Given the description of an element on the screen output the (x, y) to click on. 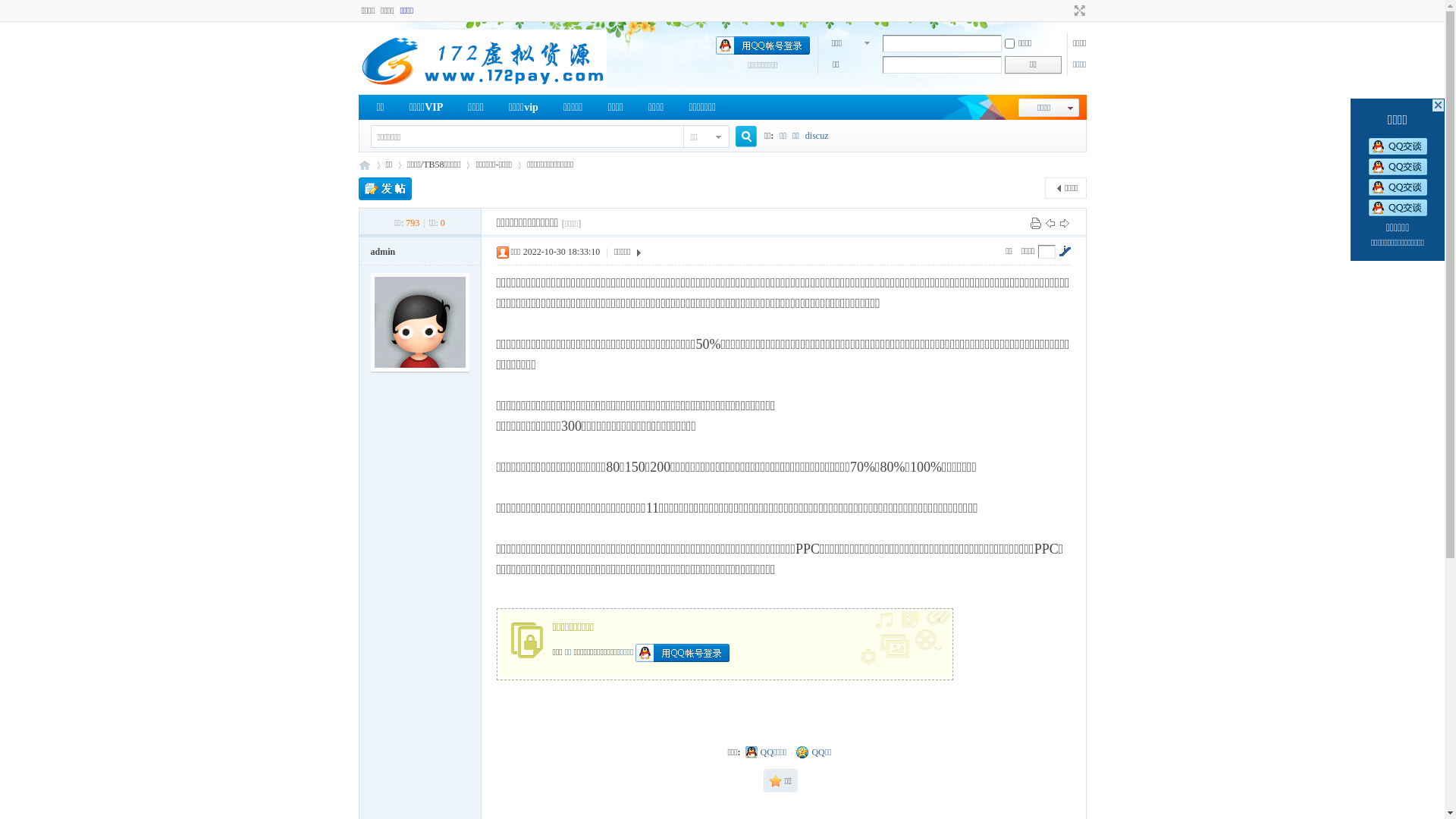
true Element type: text (740, 136)
x Element type: text (940, 616)
  Element type: text (1437, 105)
admin Element type: text (382, 251)
discuz Element type: text (816, 135)
